Given the description of an element on the screen output the (x, y) to click on. 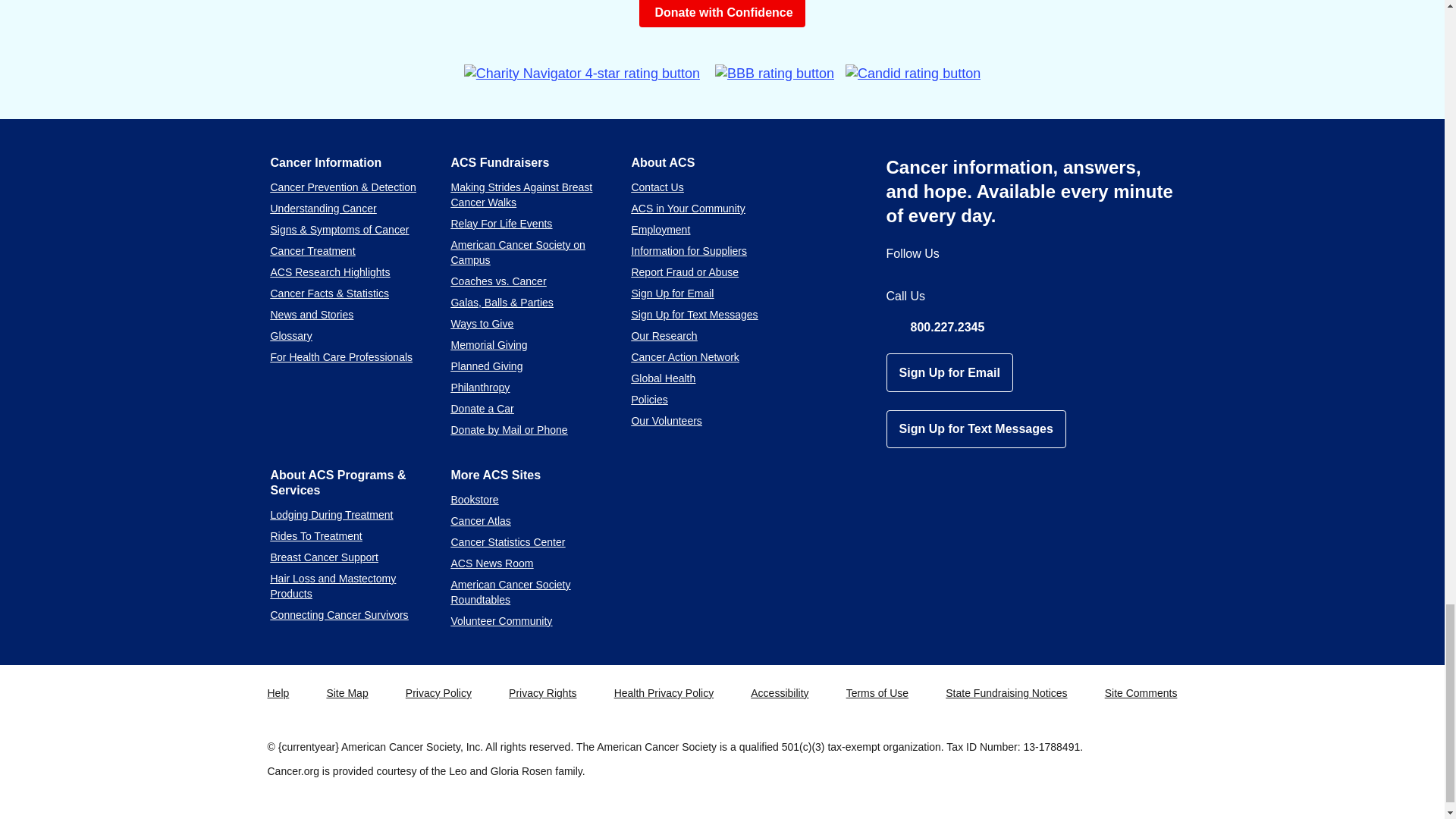
Cancer Treatment (312, 250)
ACS Research Highlights (329, 272)
Understanding Cancer (322, 208)
